Given the description of an element on the screen output the (x, y) to click on. 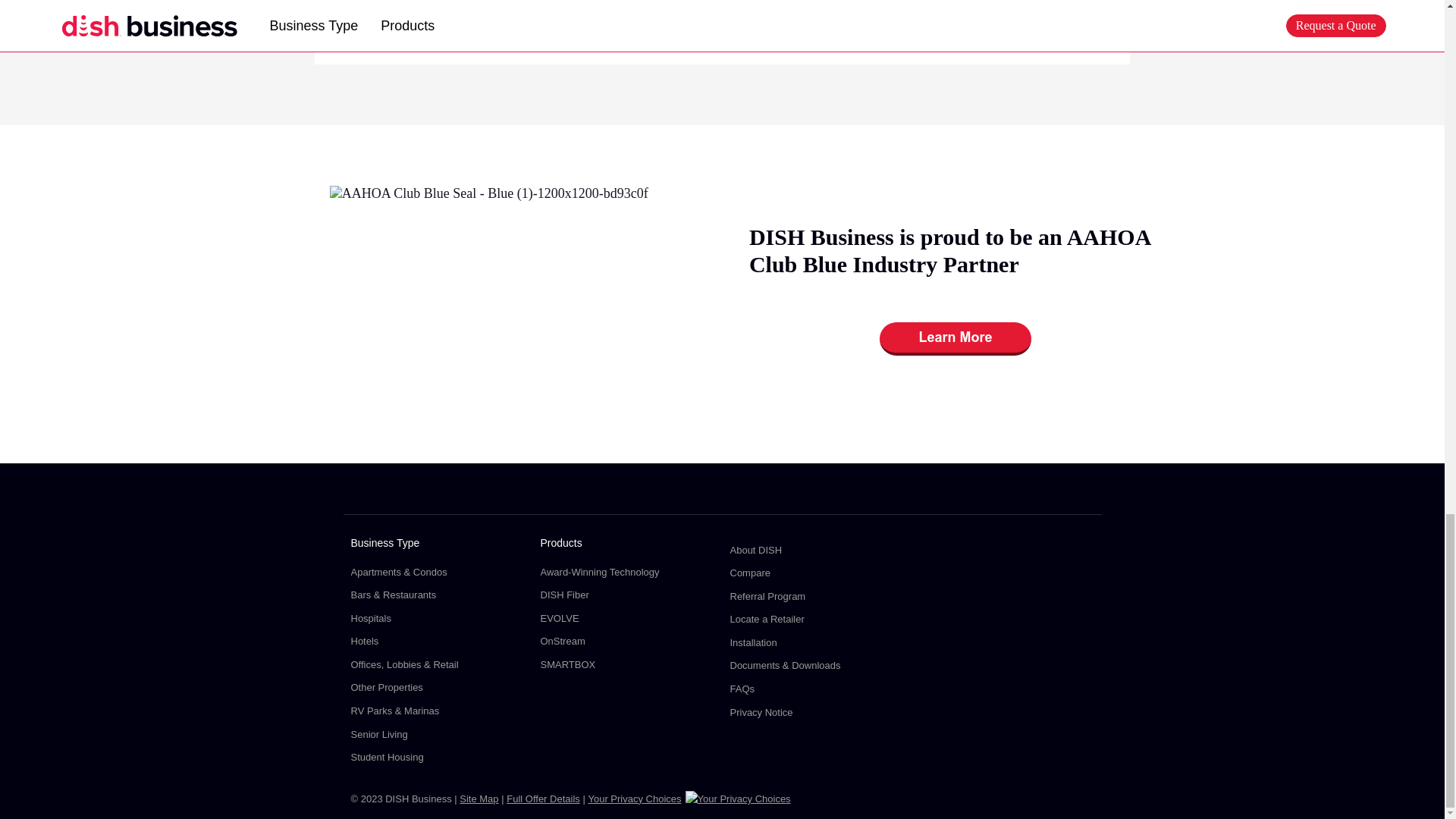
Business Type (437, 548)
